Given the description of an element on the screen output the (x, y) to click on. 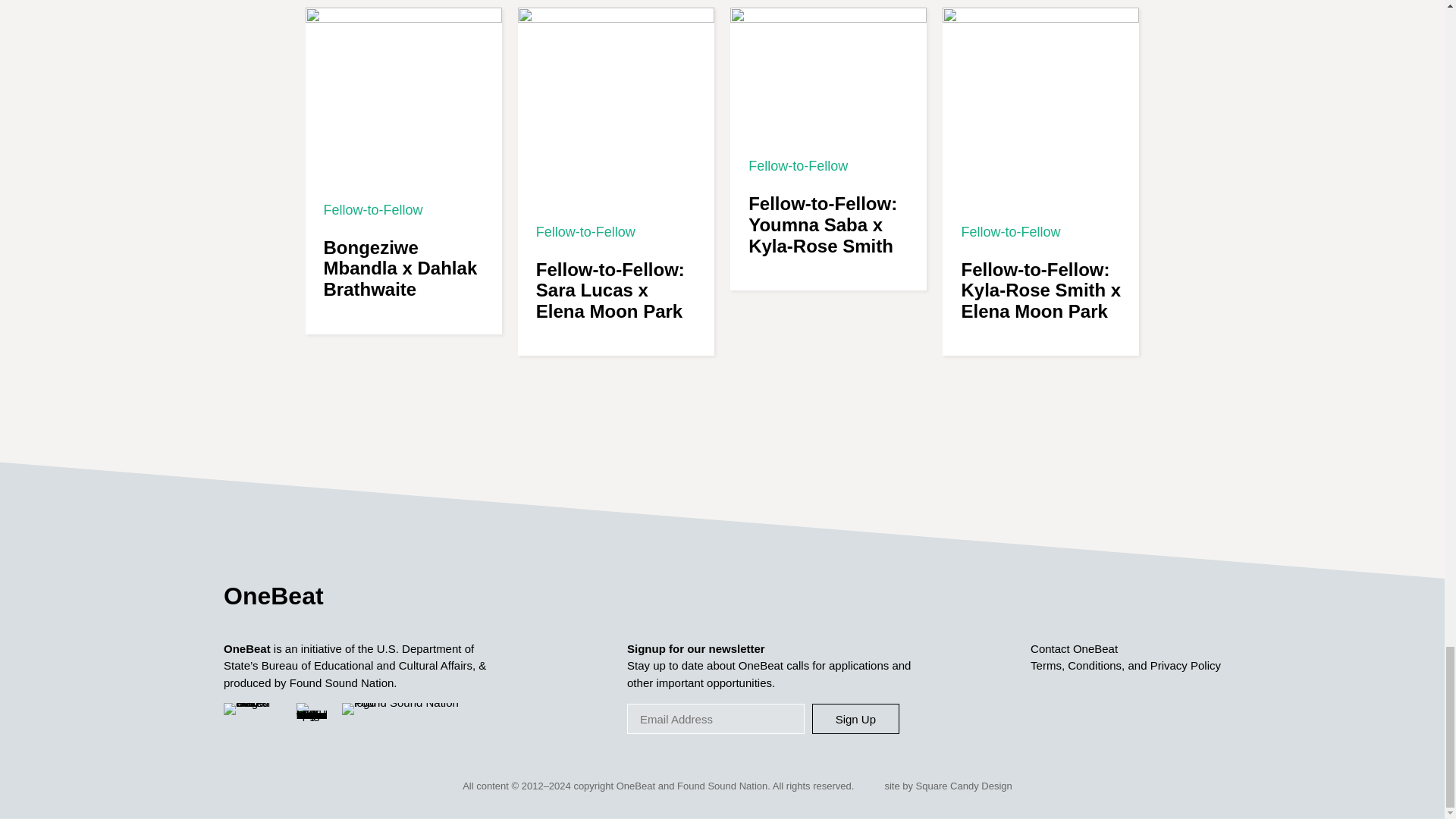
Fellow-to-Fellow (372, 210)
Fellow-to-Fellow (584, 232)
Fellow-to-Fellow: Sara Lucas x Elena Moon Park (609, 290)
Sign Up (855, 718)
Bongeziwe Mbandla x Dahlak Brathwaite (400, 268)
